Given the description of an element on the screen output the (x, y) to click on. 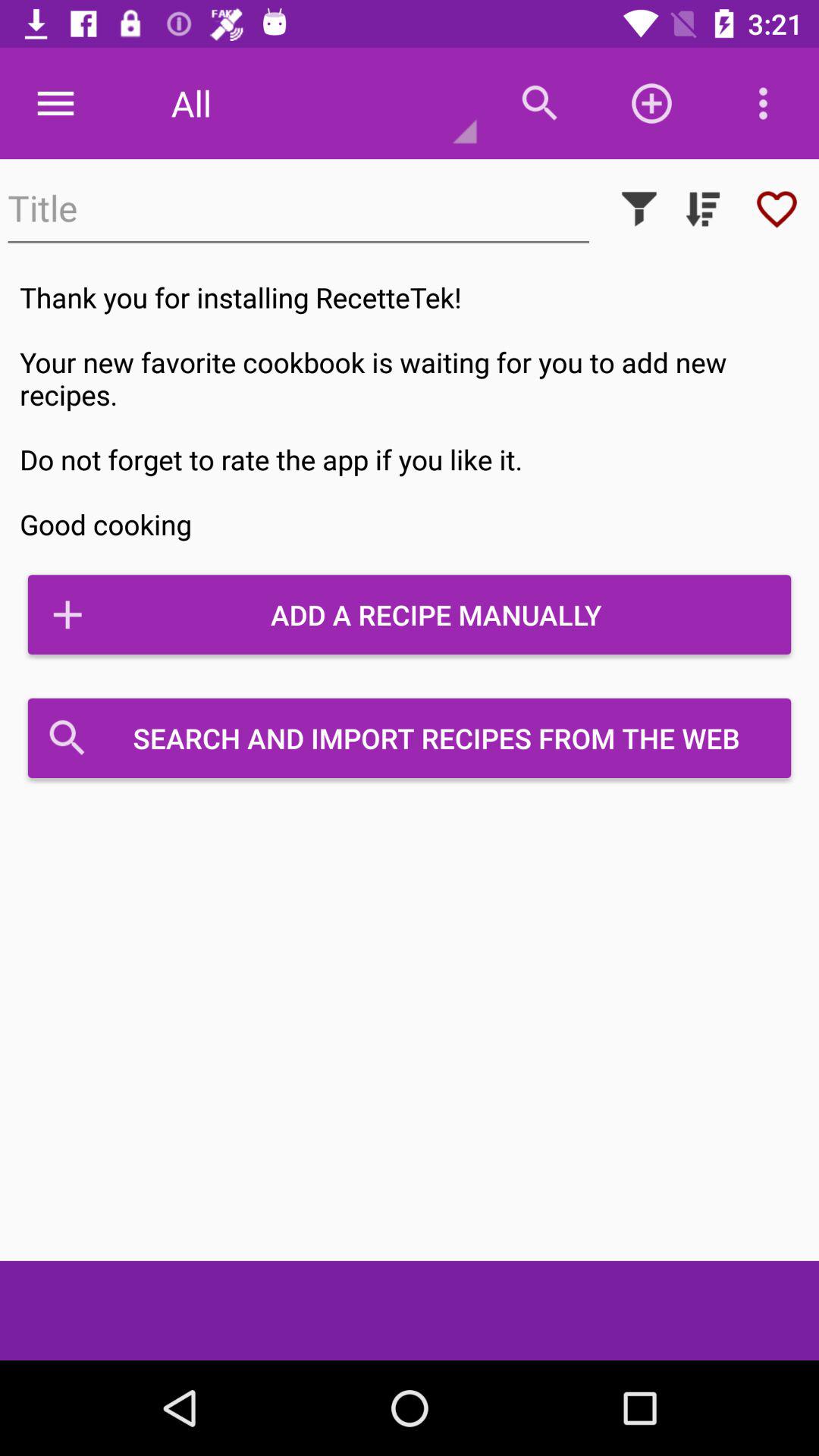
press item above the thank you for icon (639, 208)
